Given the description of an element on the screen output the (x, y) to click on. 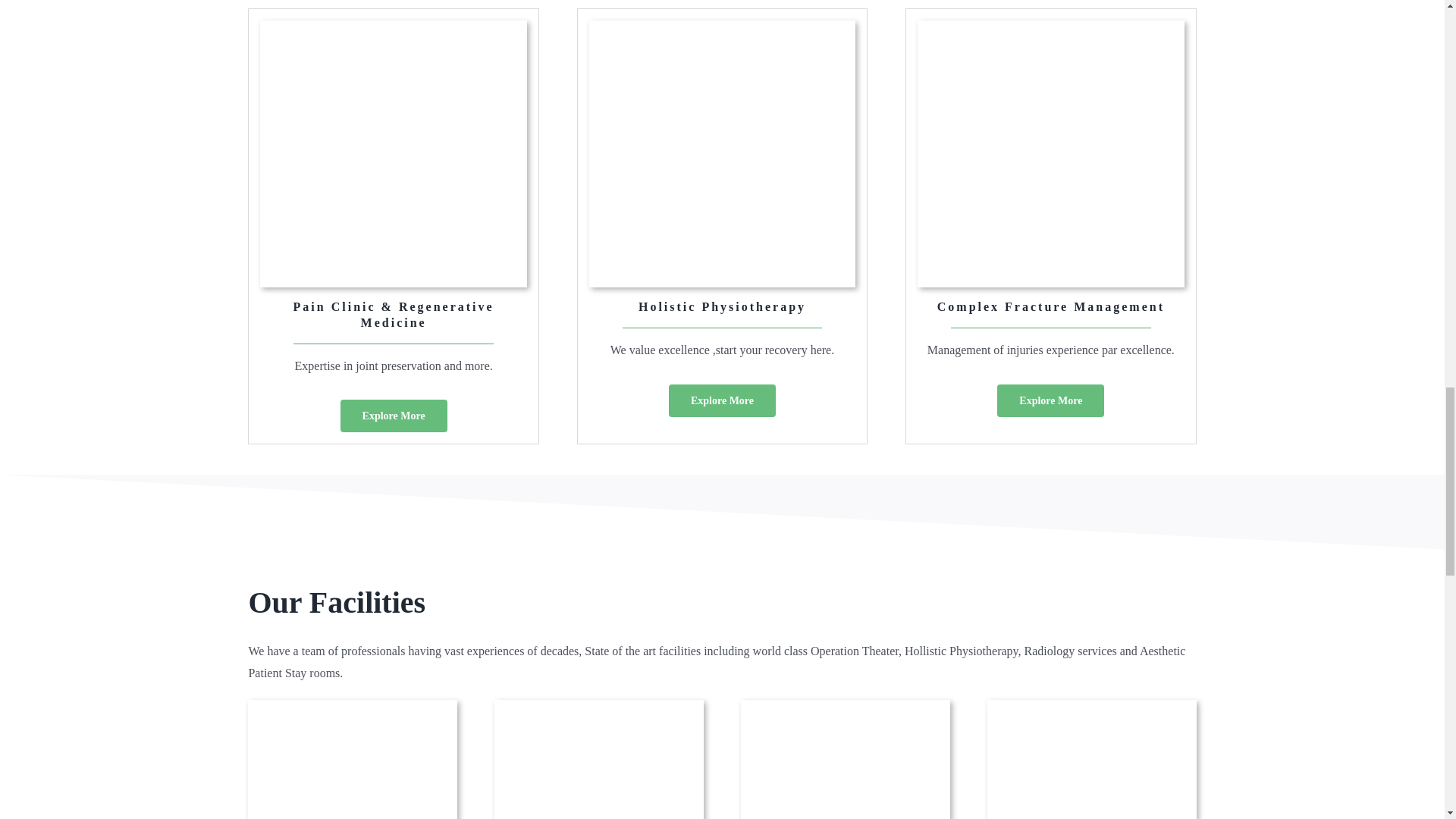
Best Phsiotherapy in Dha Isb (844, 761)
hospital in Dha isb (1091, 761)
Best Hospital In Dha isb (597, 761)
Best Hospital In Dha isb (351, 761)
